Given the description of an element on the screen output the (x, y) to click on. 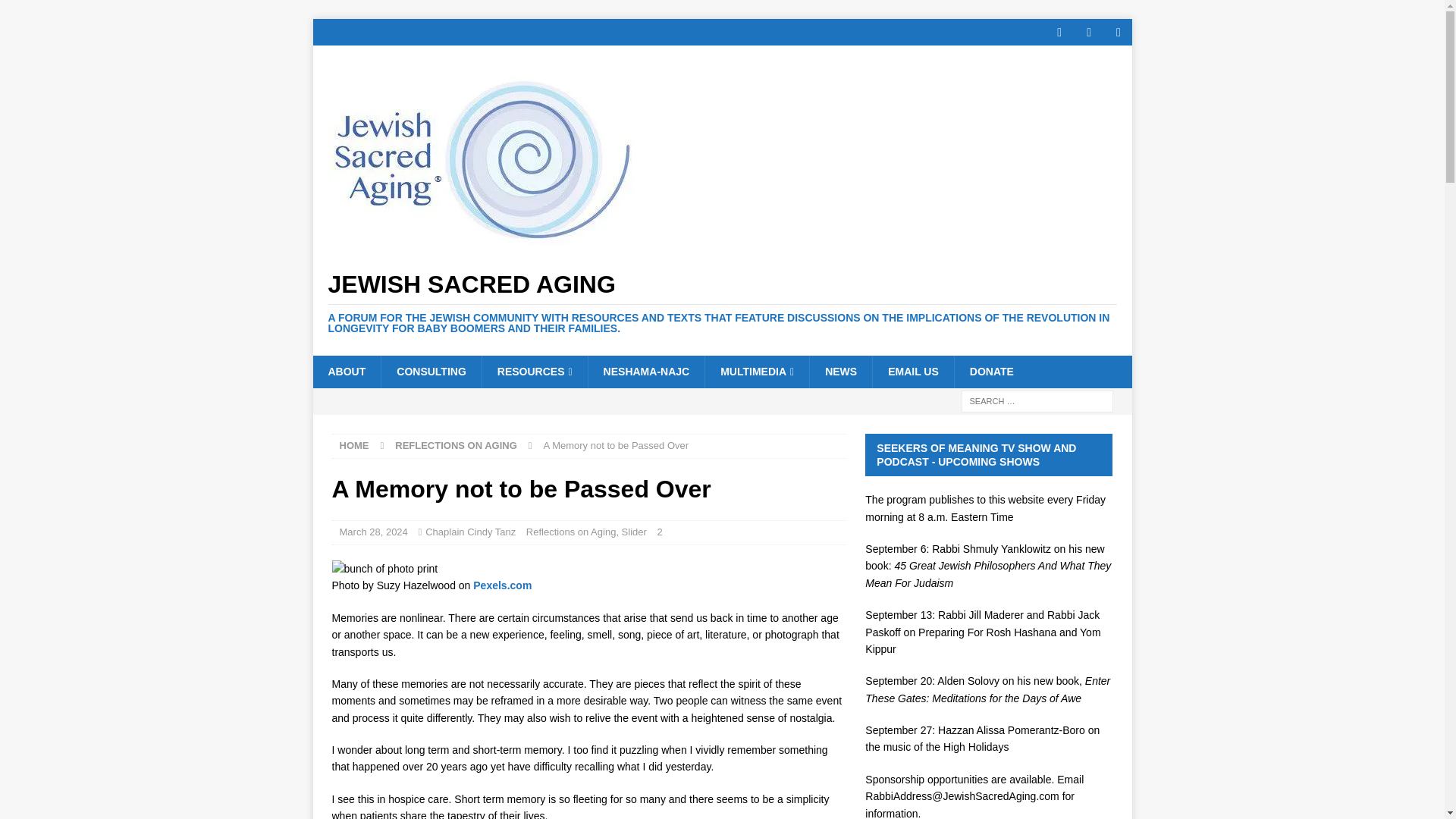
Jewish Sacred Aging (721, 302)
pexels-photo-1908066 (384, 568)
Chaplain Cindy Tanz (470, 531)
Home (354, 445)
Pexels.com (502, 585)
HOME (354, 445)
CONSULTING (430, 371)
MULTIMEDIA (756, 371)
Reflections on Aging (455, 445)
ABOUT (346, 371)
